Given the description of an element on the screen output the (x, y) to click on. 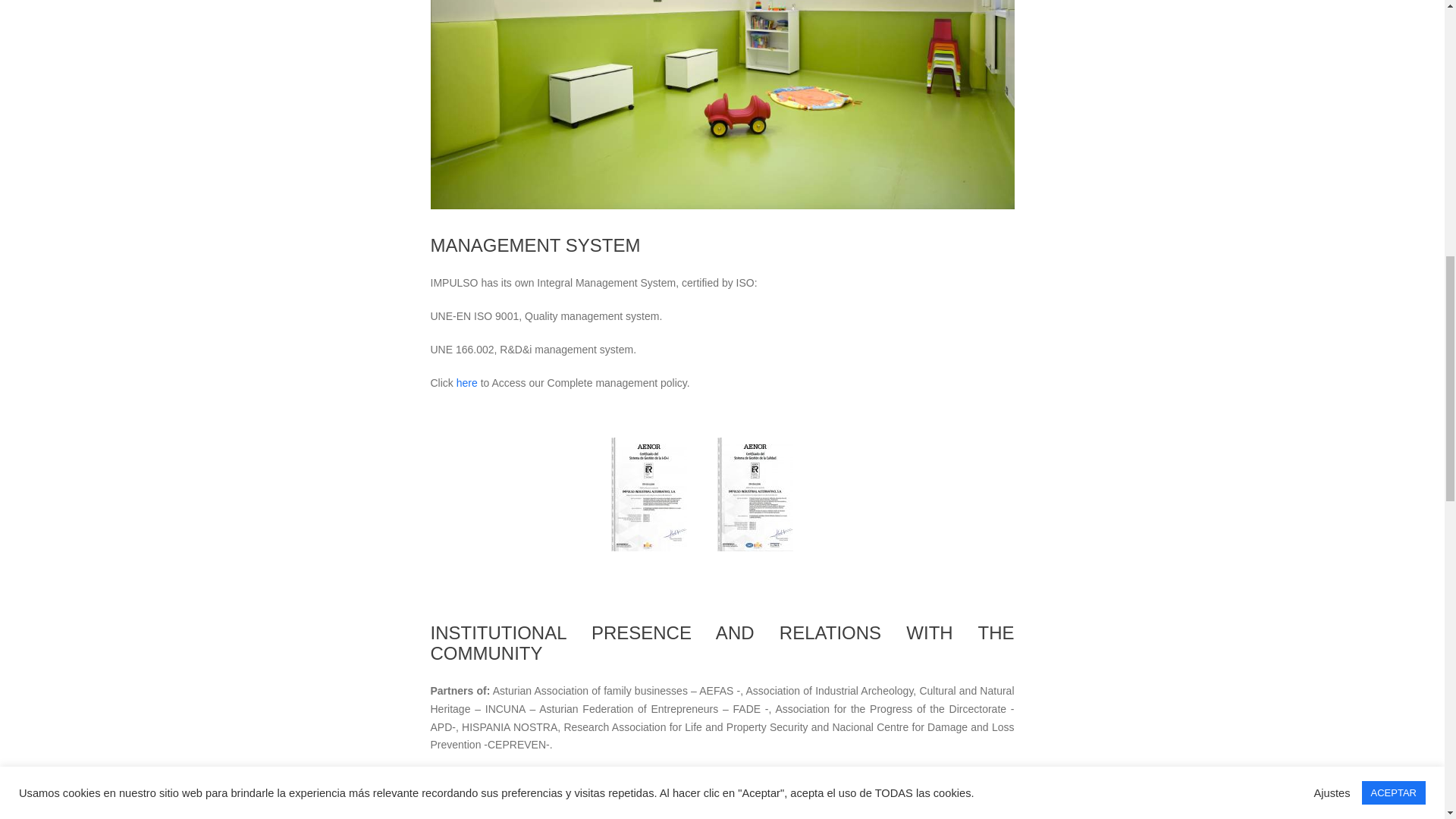
here (467, 381)
